Given the description of an element on the screen output the (x, y) to click on. 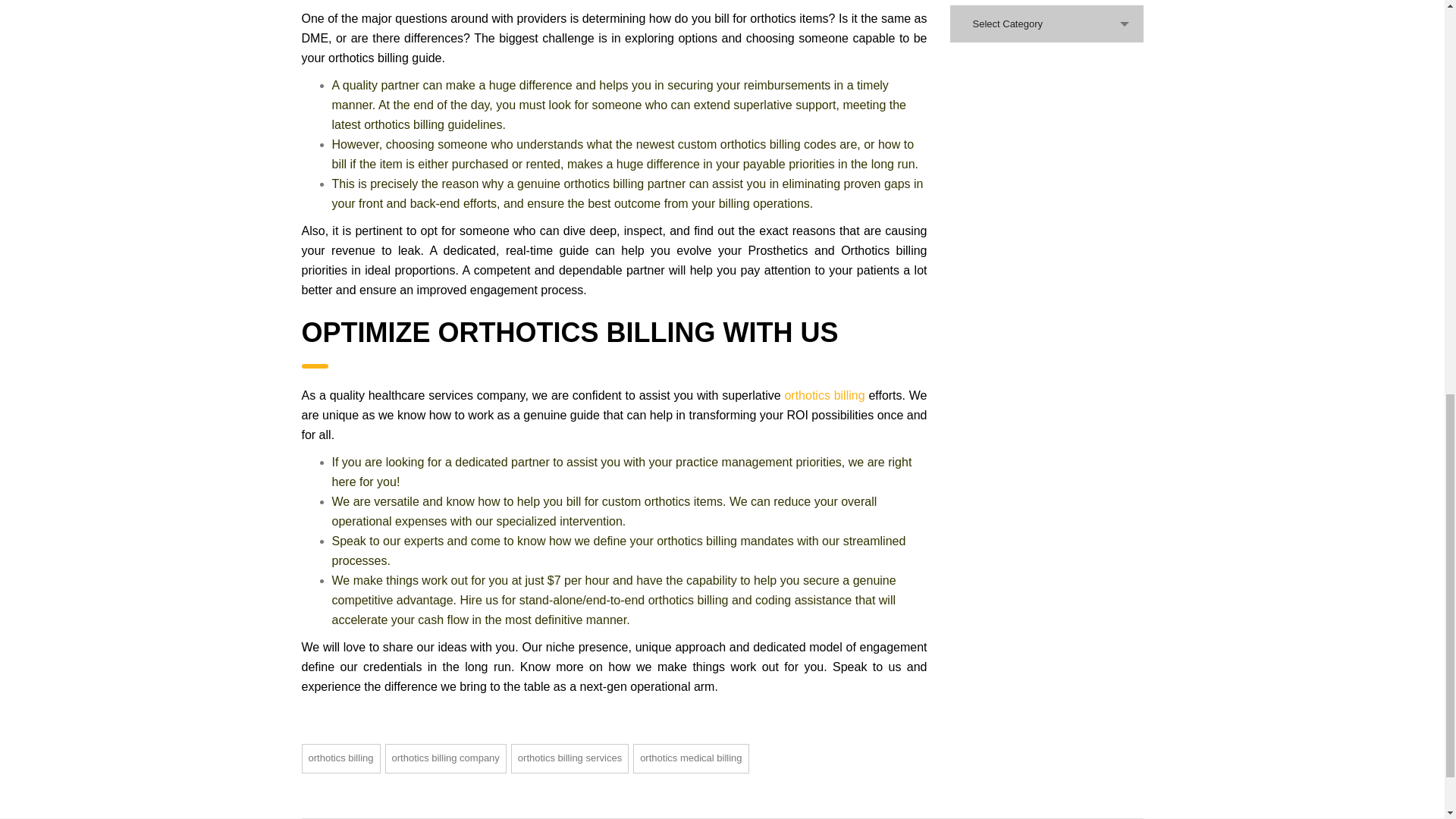
Select Category (1046, 23)
